Given the description of an element on the screen output the (x, y) to click on. 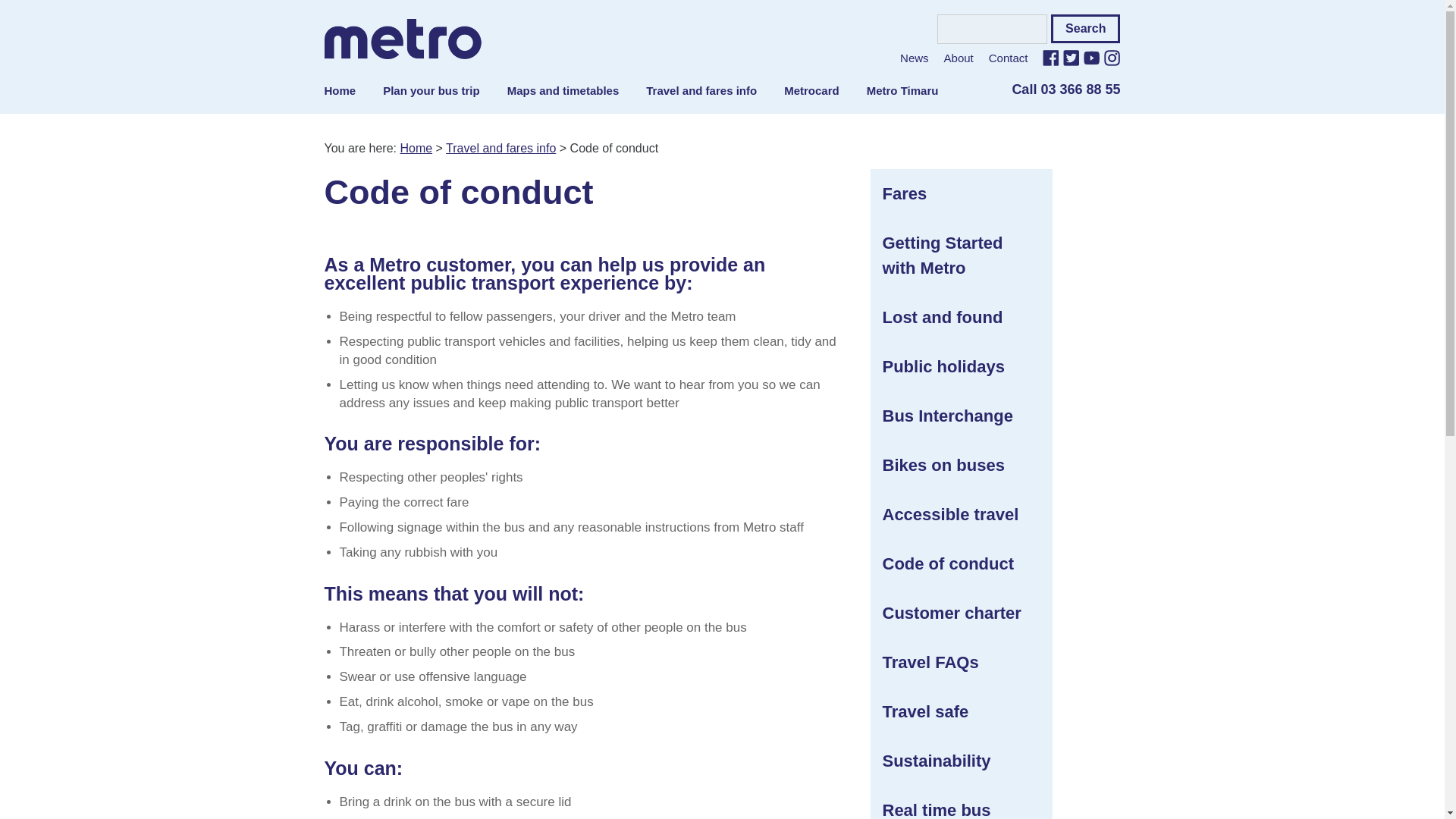
Travel and fares info (700, 91)
Bus Interchange (961, 415)
Home (415, 147)
Public holidays (961, 366)
Customer charter (961, 612)
Call 03 366 88 55 (1058, 91)
Code of conduct (961, 563)
Bikes on buses (961, 464)
Travel and fares info (500, 147)
Sustainability (961, 760)
Visit our Twitter (1070, 57)
News (913, 58)
Plan your bus trip (431, 91)
Metrocard (811, 91)
Home (346, 91)
